Given the description of an element on the screen output the (x, y) to click on. 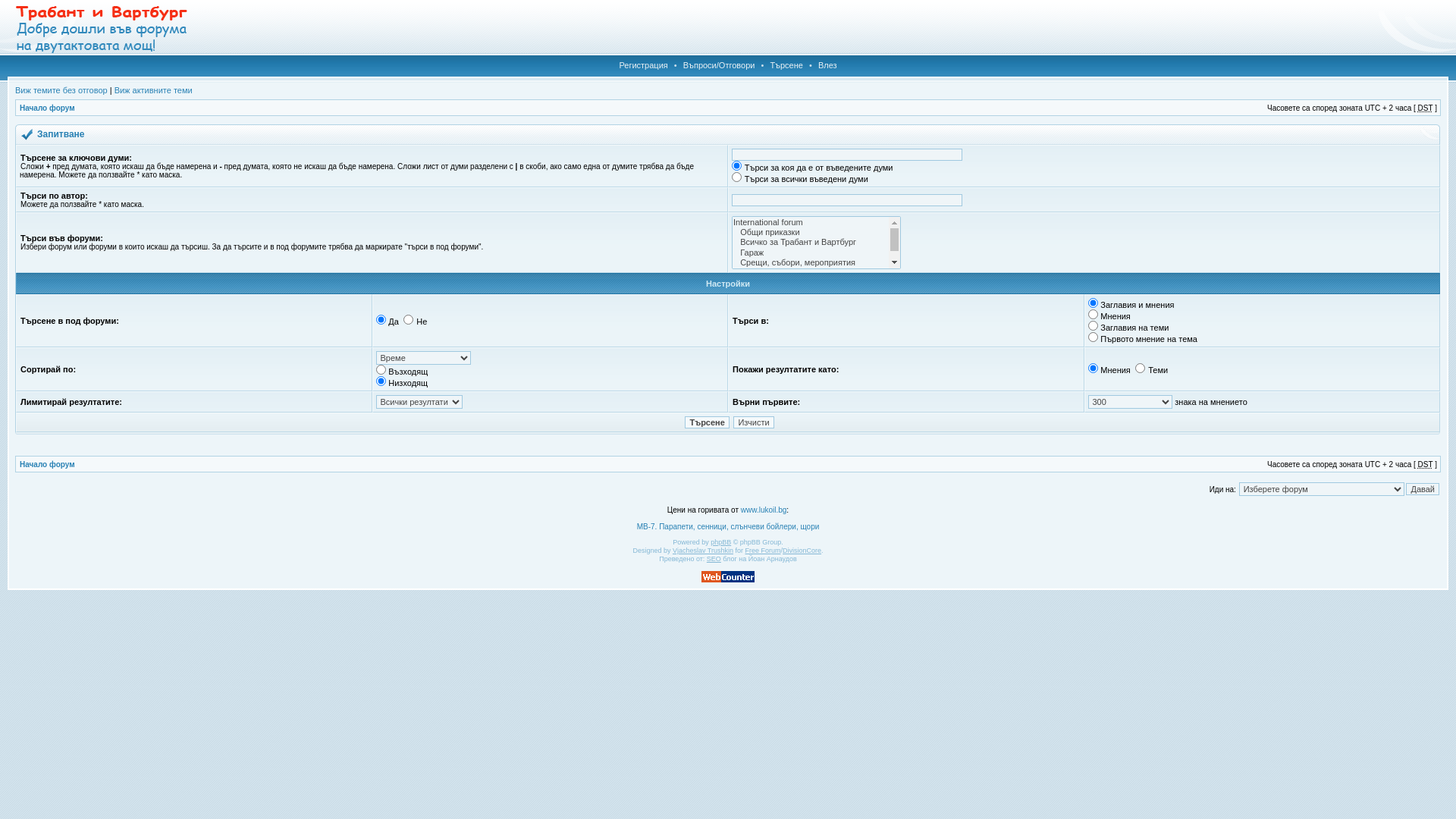
Free Forum Element type: text (763, 550)
phpBB Element type: text (720, 542)
SEO Element type: text (713, 558)
www.lukoil.bg Element type: text (763, 509)
DivisionCore Element type: text (801, 550)
Vjacheslav Trushkin Element type: text (702, 550)
